Given the description of an element on the screen output the (x, y) to click on. 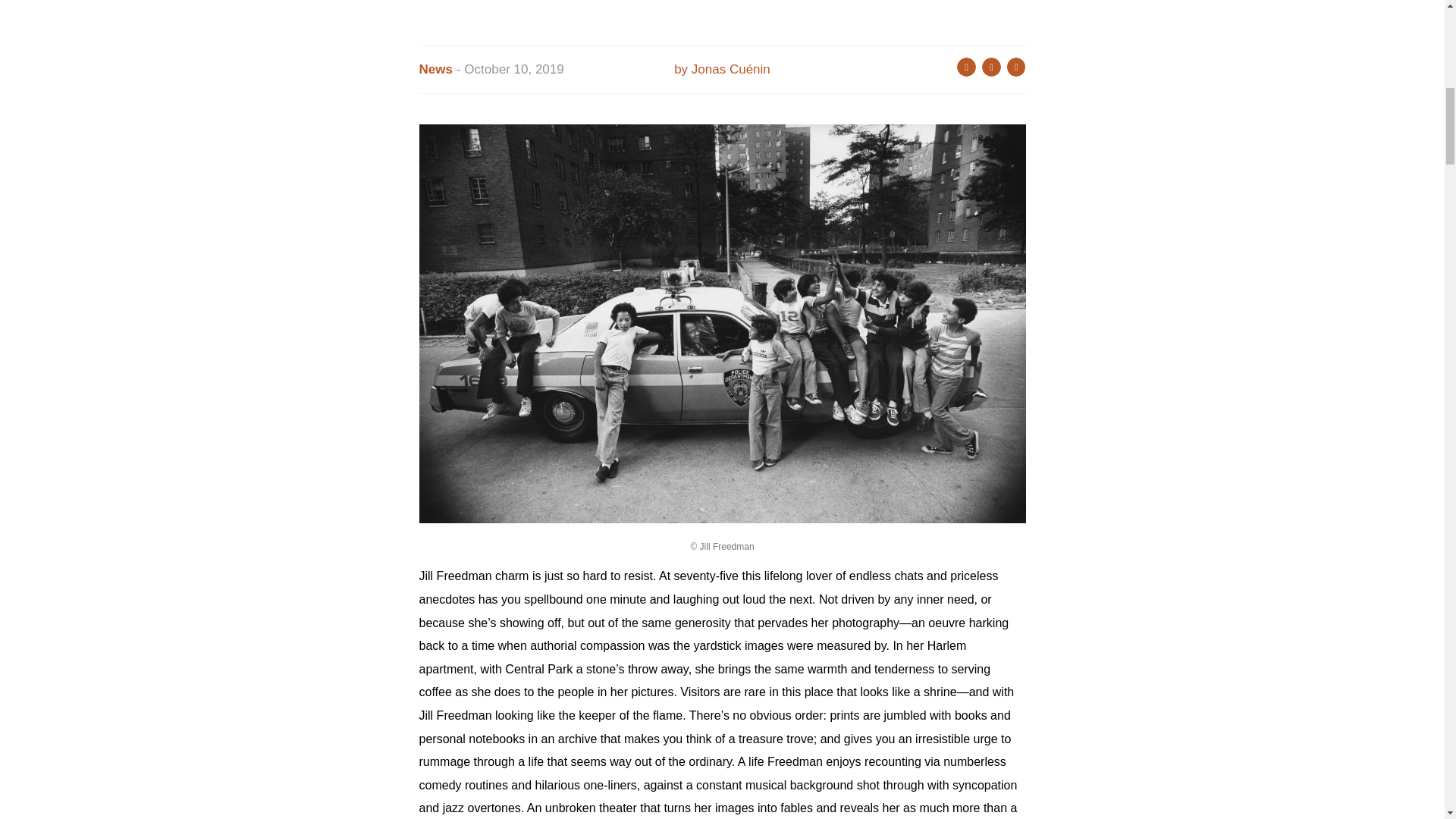
News (435, 69)
